Given the description of an element on the screen output the (x, y) to click on. 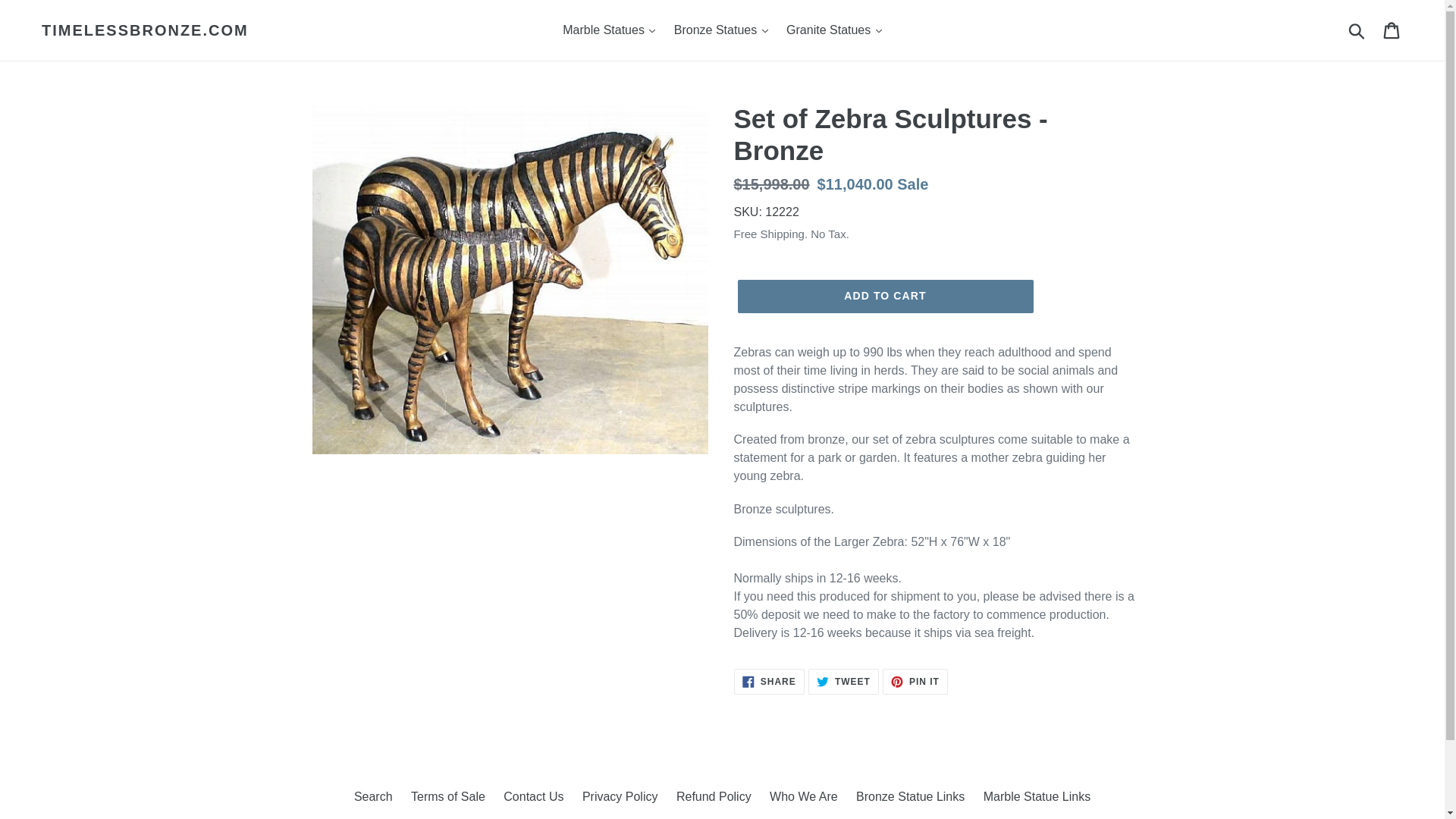
TIMELESSBRONZE.COM (145, 30)
